Given the description of an element on the screen output the (x, y) to click on. 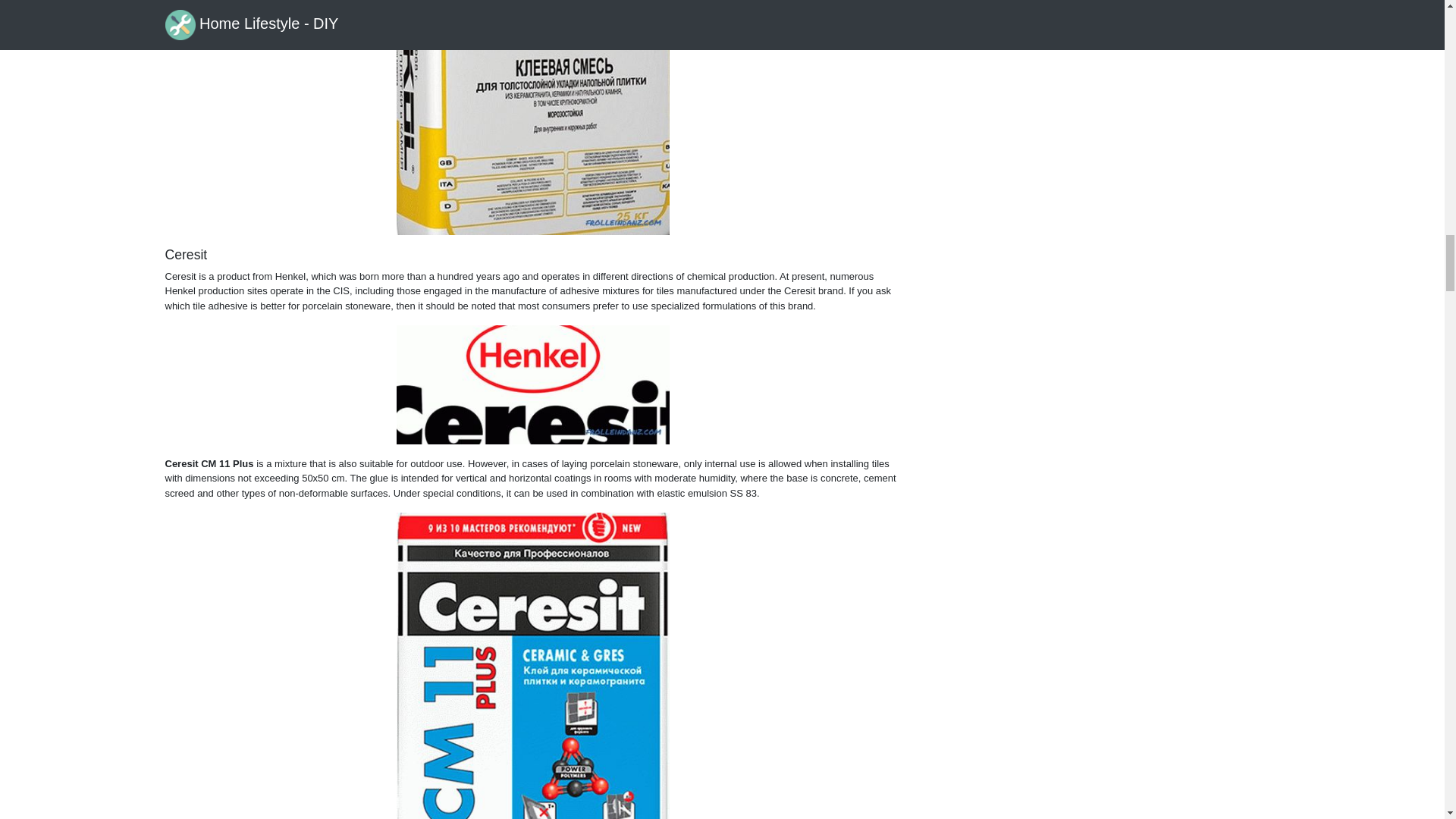
Glue for porcelain tiles - which one is better to choose (532, 117)
Glue for porcelain tiles - which one is better to choose (532, 665)
Glue for porcelain tiles - which one is better to choose (532, 384)
